Given the description of an element on the screen output the (x, y) to click on. 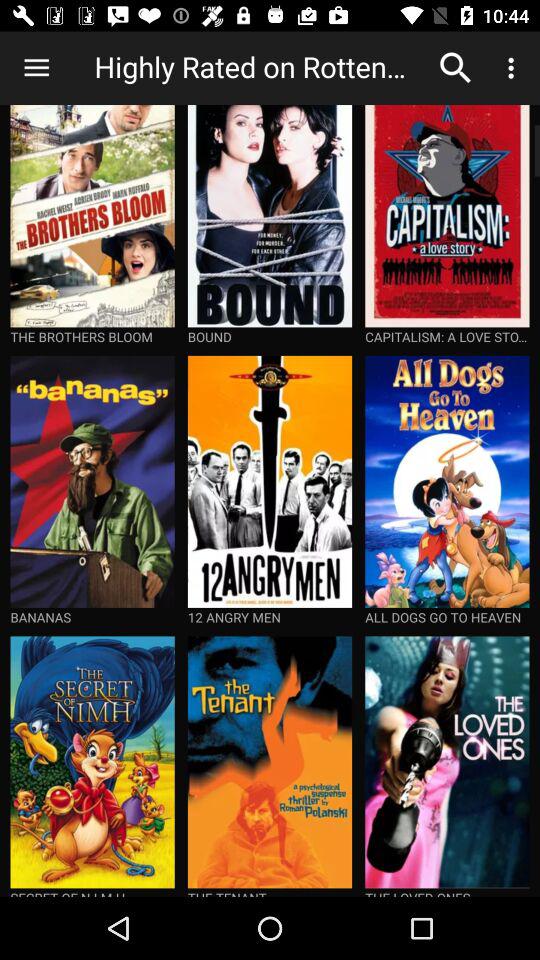
click the icon next to highly rated on item (455, 67)
